Given the description of an element on the screen output the (x, y) to click on. 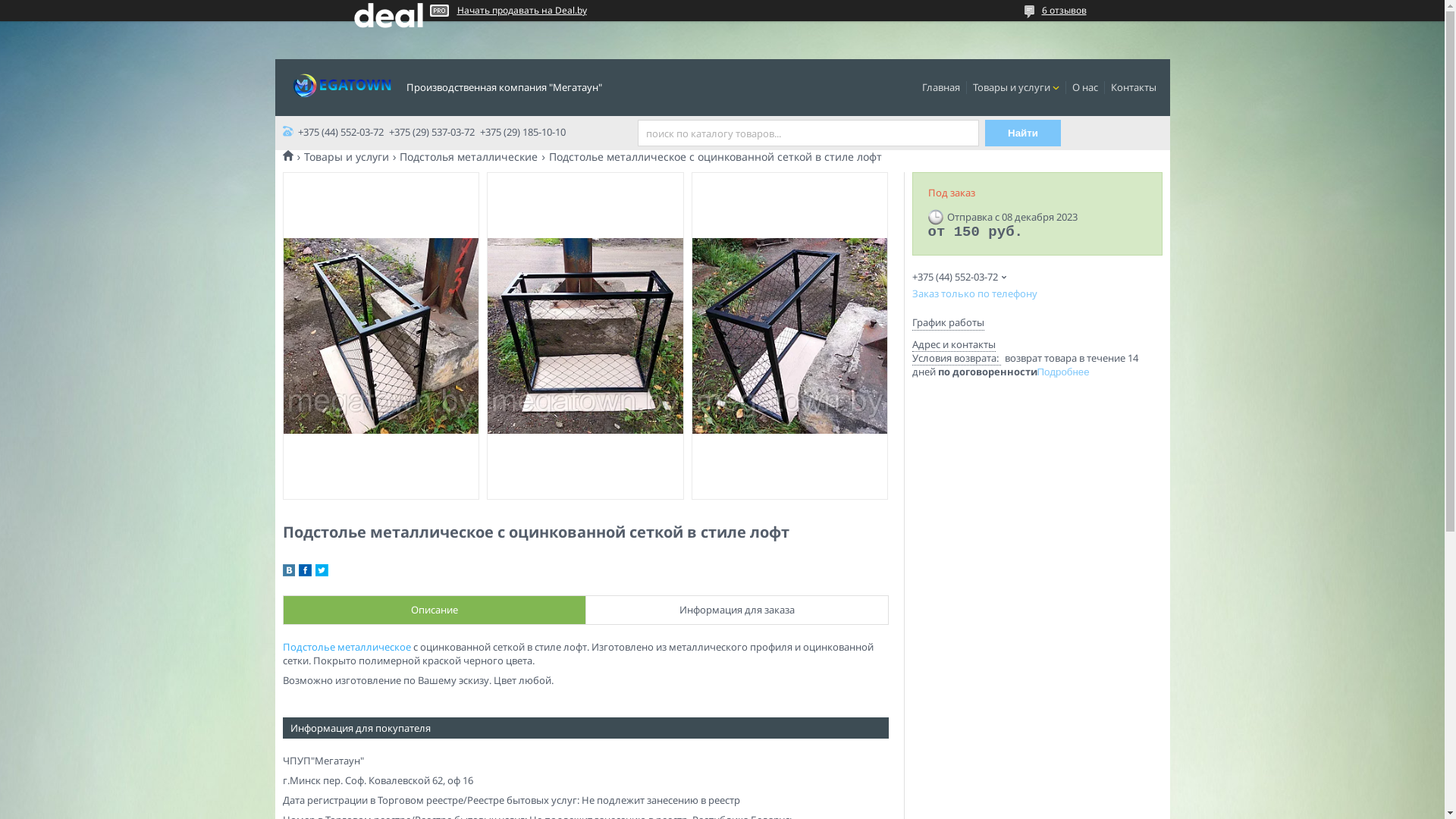
facebook Element type: hover (304, 572)
twitter Element type: hover (321, 572)
